Given the description of an element on the screen output the (x, y) to click on. 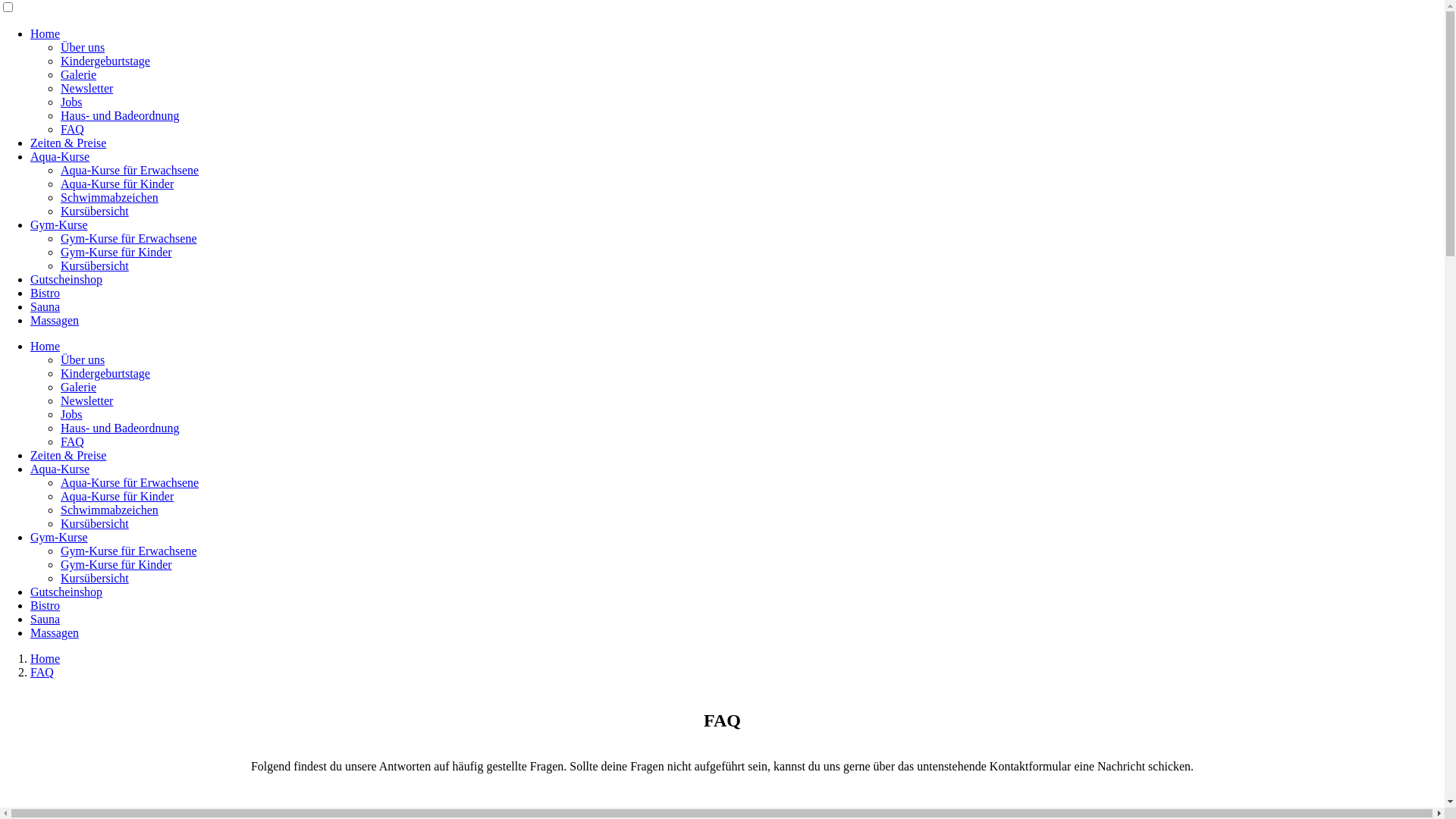
Schwimmabzeichen Element type: text (109, 509)
Jobs Element type: text (70, 101)
FAQ Element type: text (72, 441)
Kindergeburtstage Element type: text (105, 60)
Gym-Kurse Element type: text (58, 536)
Aqua-Kurse Element type: text (59, 468)
Massagen Element type: text (54, 319)
Sauna Element type: text (44, 306)
Massagen Element type: text (54, 632)
Galerie Element type: text (78, 386)
Bistro Element type: text (44, 292)
Newsletter Element type: text (86, 400)
Gutscheinshop Element type: text (66, 279)
Schwimmabzeichen Element type: text (109, 197)
Home Element type: text (44, 33)
Sauna Element type: text (44, 618)
Gym-Kurse Element type: text (58, 224)
Home Element type: text (44, 658)
Kindergeburtstage Element type: text (105, 373)
Zeiten & Preise Element type: text (68, 142)
Gutscheinshop Element type: text (66, 591)
FAQ Element type: text (72, 128)
Galerie Element type: text (78, 74)
Haus- und Badeordnung Element type: text (119, 427)
Bistro Element type: text (44, 605)
Jobs Element type: text (70, 413)
FAQ Element type: text (41, 671)
Haus- und Badeordnung Element type: text (119, 115)
Zeiten & Preise Element type: text (68, 454)
Newsletter Element type: text (86, 87)
Aqua-Kurse Element type: text (59, 156)
Home Element type: text (44, 345)
